Given the description of an element on the screen output the (x, y) to click on. 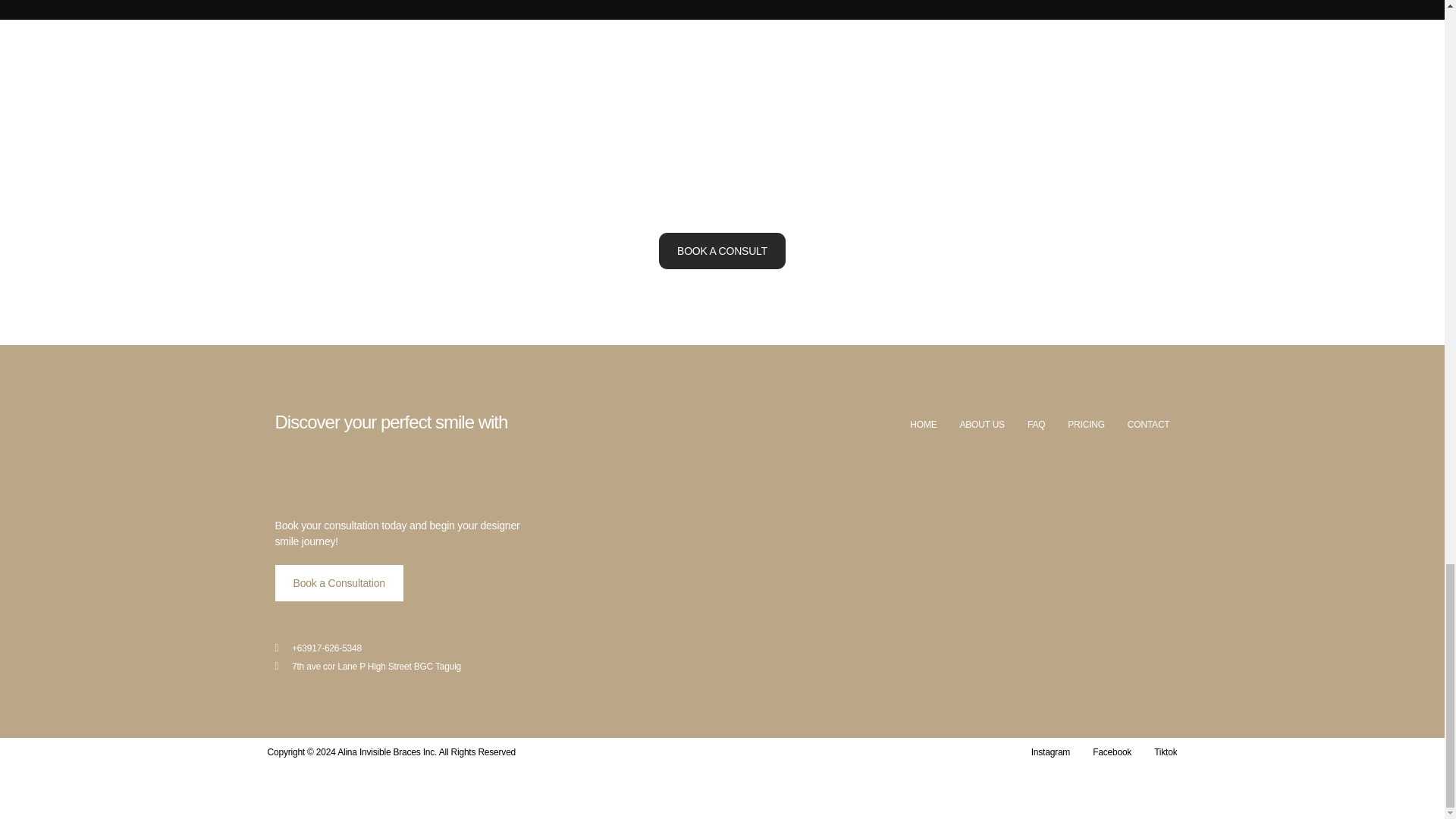
Book a Consultation (339, 583)
CONTACT (1148, 424)
PRICING (1086, 424)
BOOK A CONSULT (722, 250)
ABOUT US (981, 424)
